Given the description of an element on the screen output the (x, y) to click on. 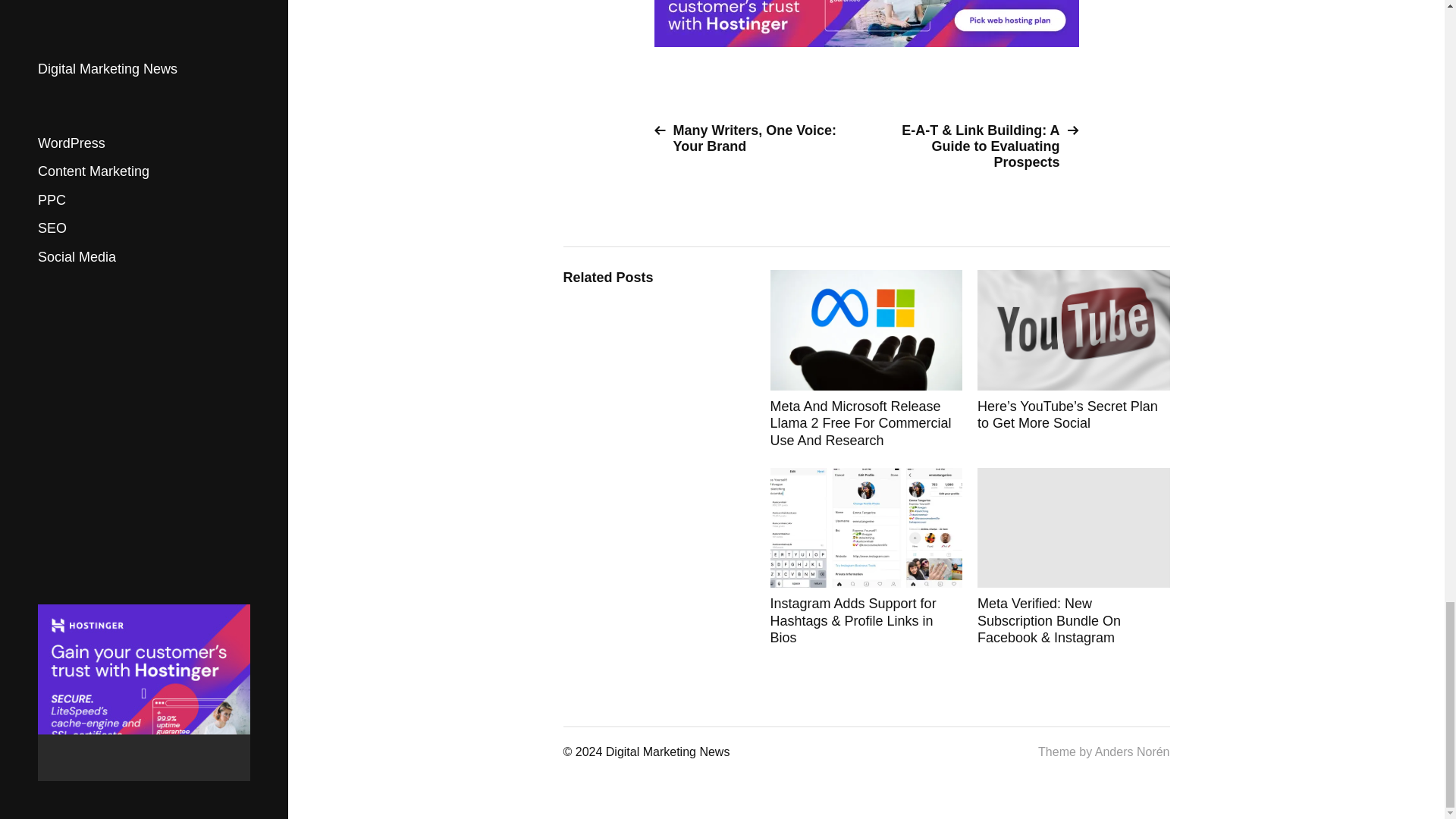
Many Writers, One Voice: Your Brand (753, 138)
Digital Marketing News (667, 752)
